Given the description of an element on the screen output the (x, y) to click on. 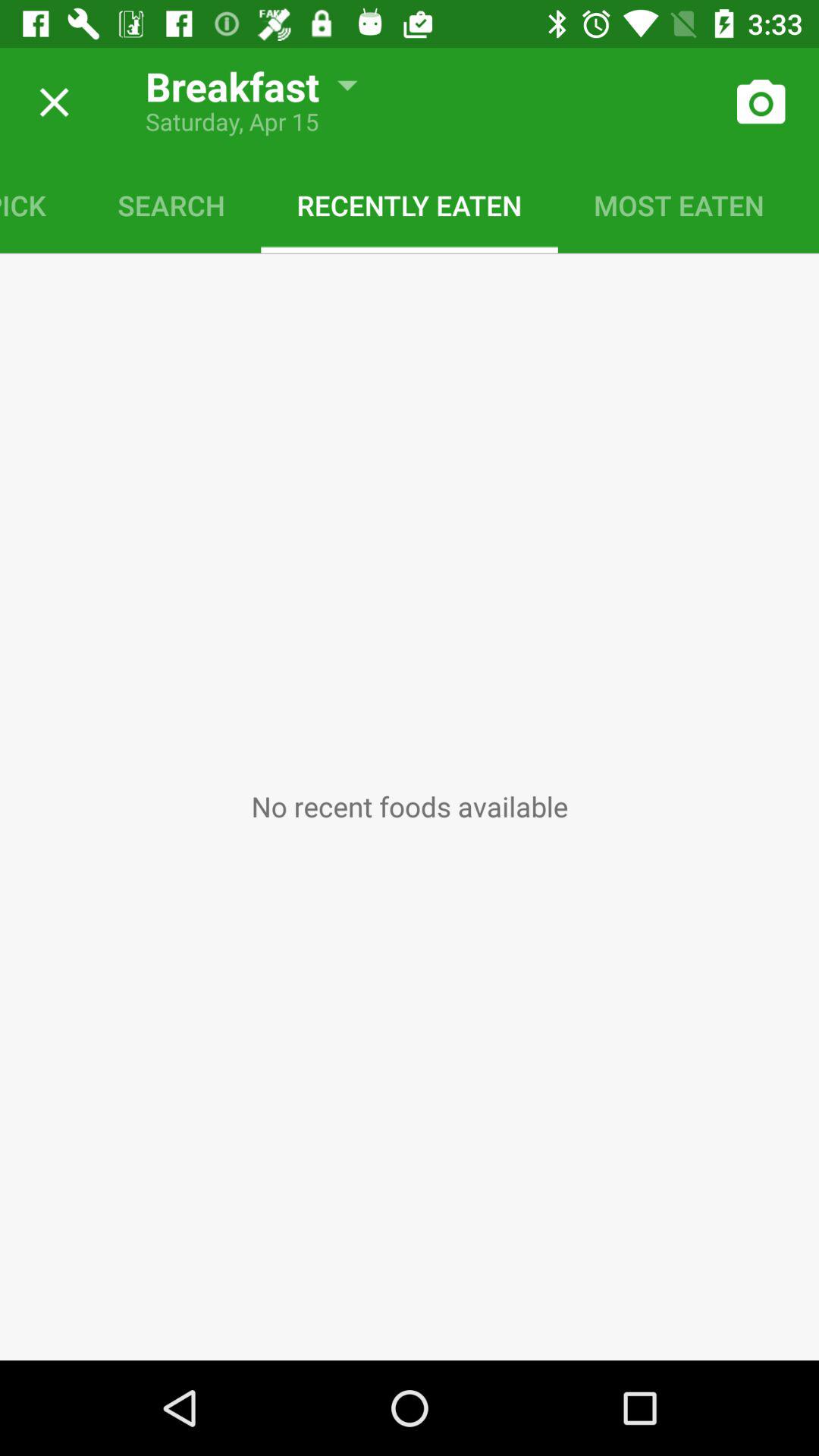
press item above the search item (240, 79)
